Given the description of an element on the screen output the (x, y) to click on. 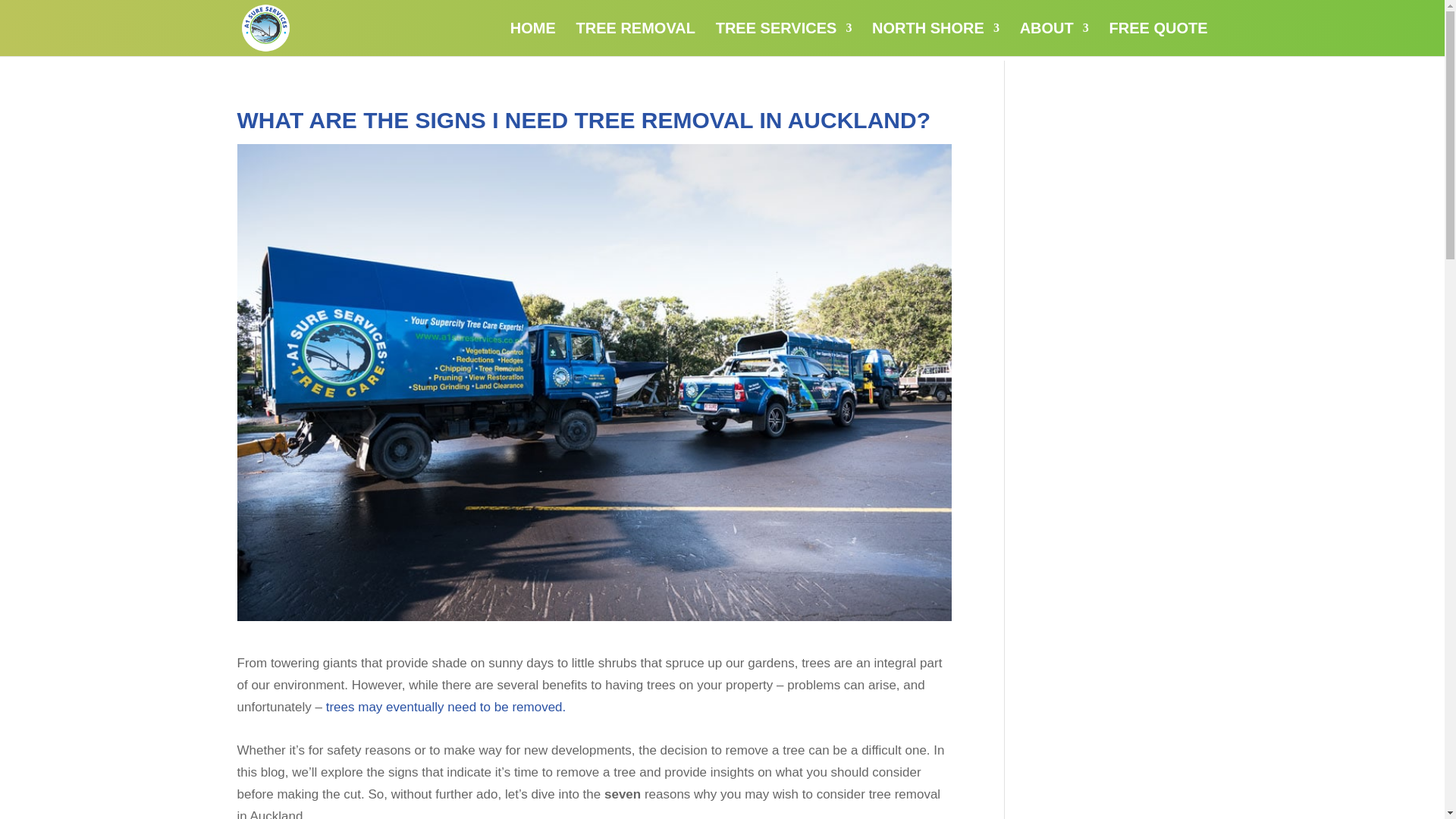
TREE SERVICES (783, 39)
ABOUT (1054, 39)
FREE QUOTE (1157, 39)
TREE REMOVAL (635, 39)
NORTH SHORE (935, 39)
trees may eventually need to be removed. (490, 718)
HOME (533, 39)
